Given the description of an element on the screen output the (x, y) to click on. 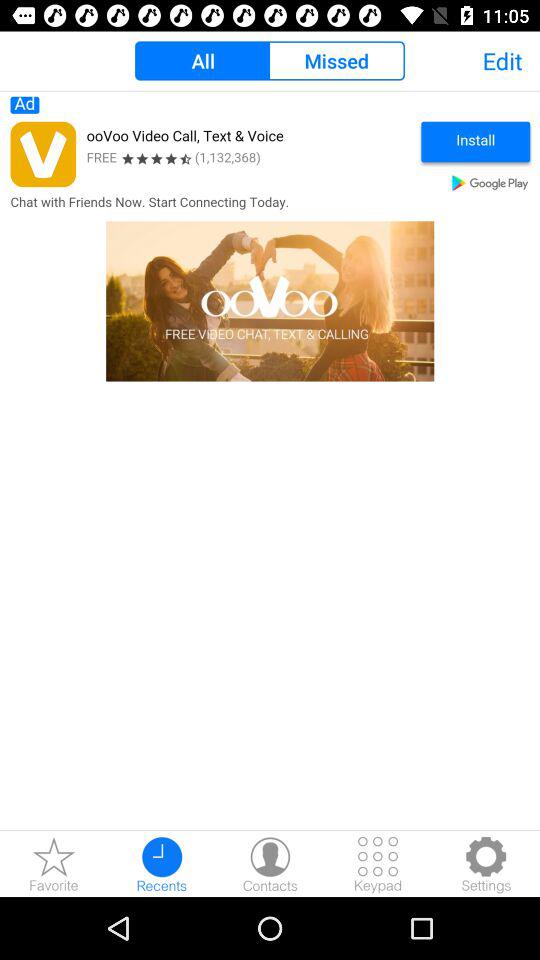
recents button (161, 864)
